Given the description of an element on the screen output the (x, y) to click on. 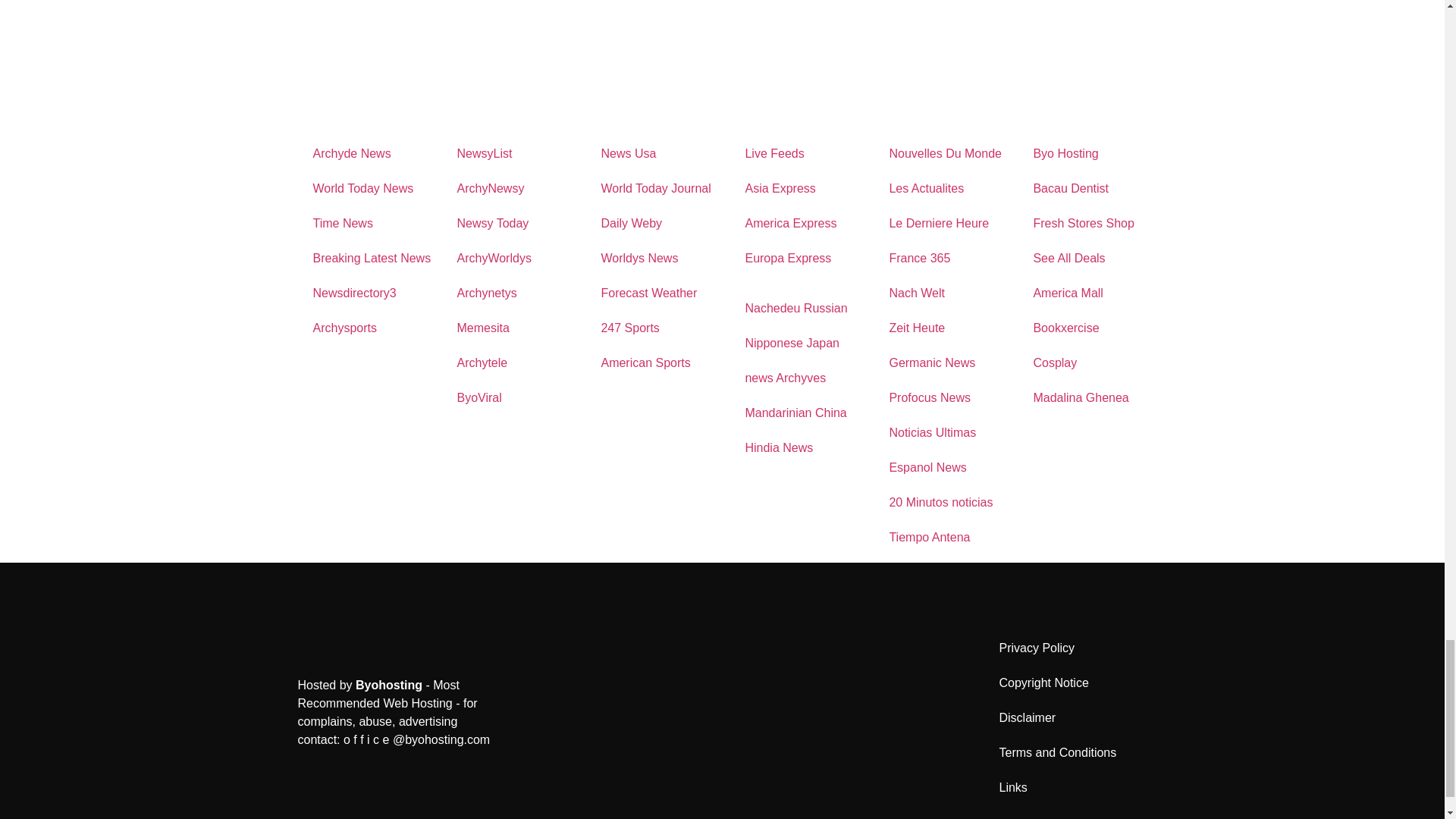
Most Recommended WebHosting (388, 684)
